Given the description of an element on the screen output the (x, y) to click on. 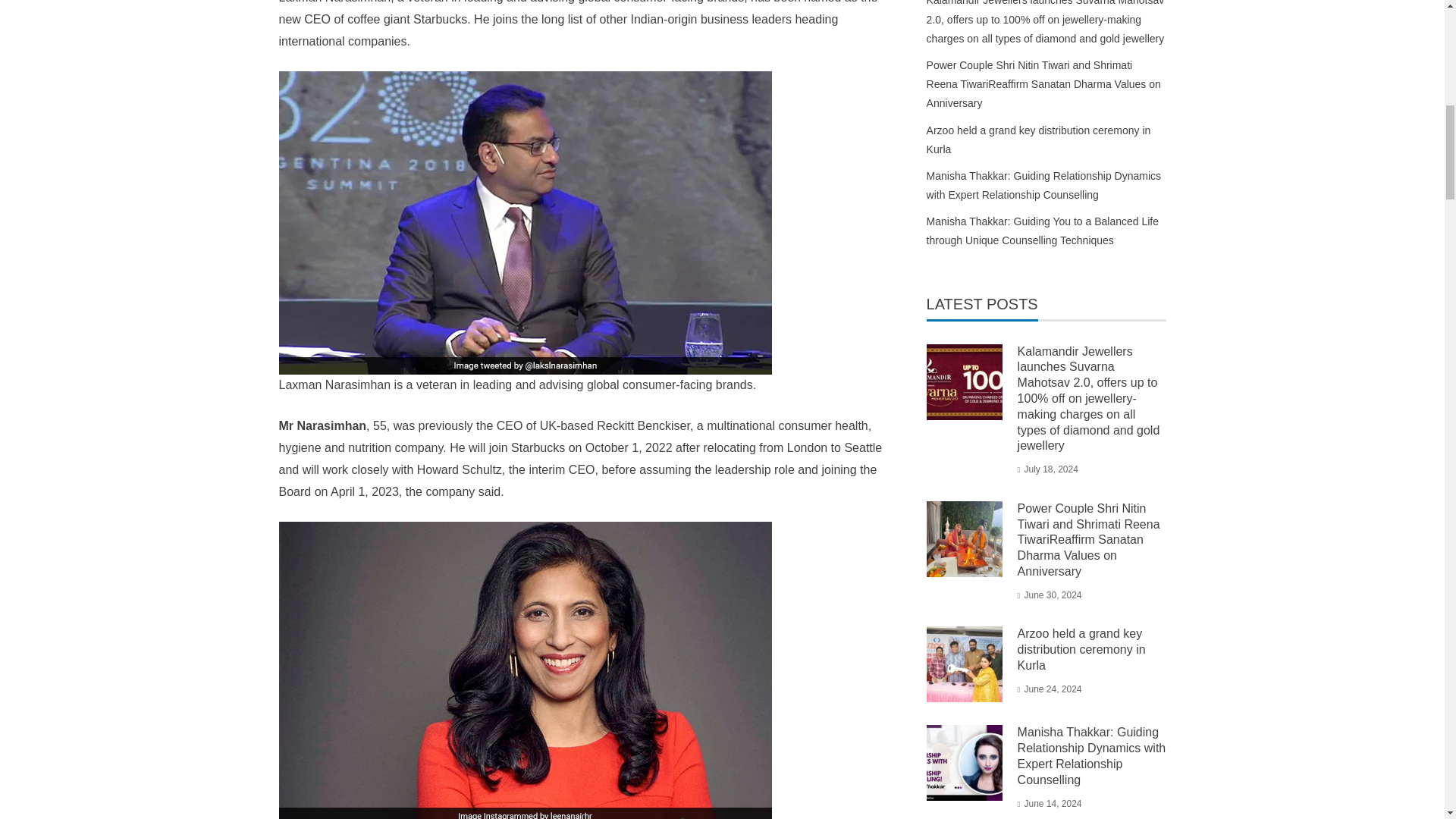
Arzoo held a grand key distribution ceremony in Kurla (1081, 649)
Arzoo held a grand key distribution ceremony in Kurla (1038, 139)
